Given the description of an element on the screen output the (x, y) to click on. 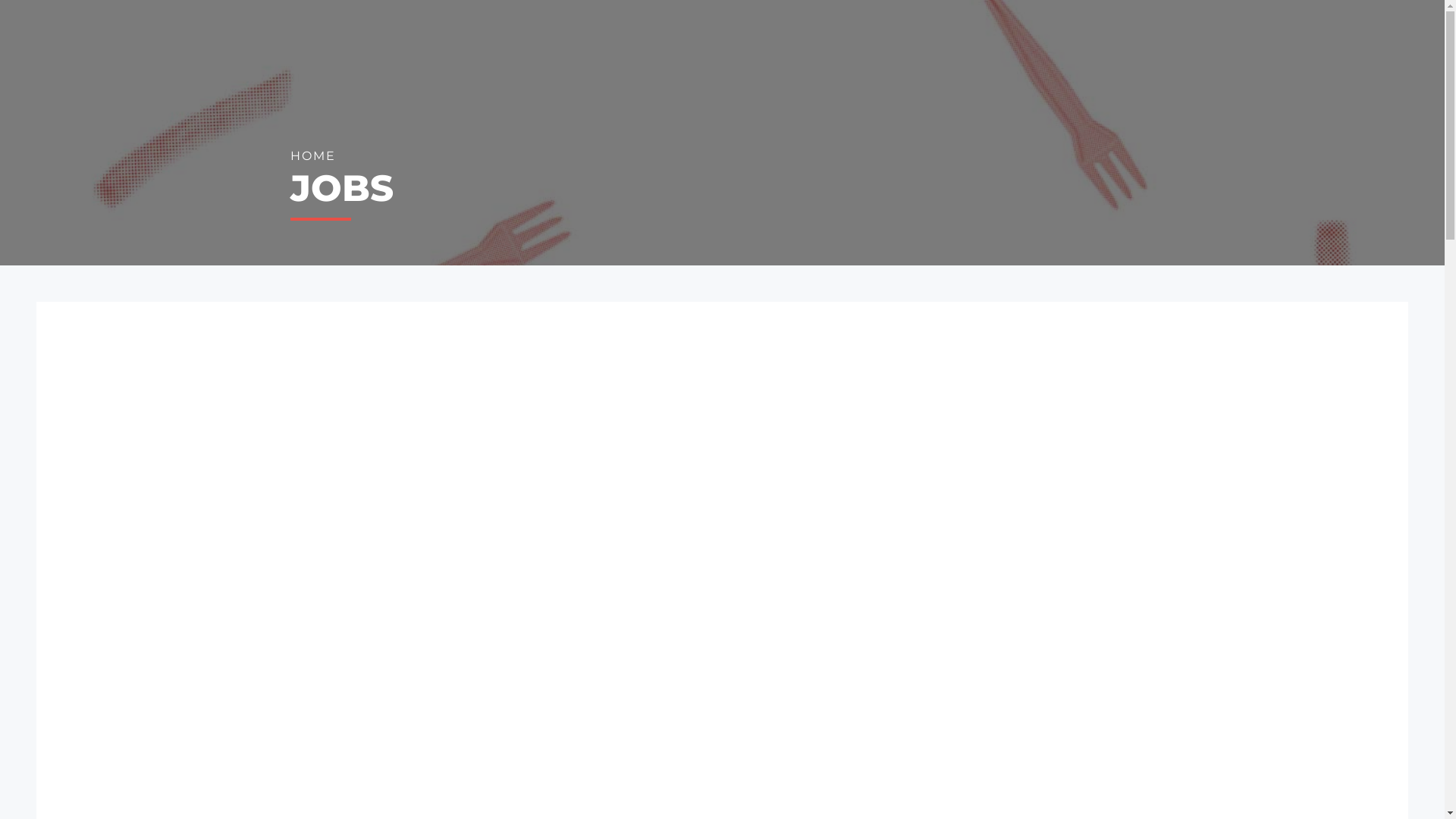
HOME Element type: text (312, 156)
